Given the description of an element on the screen output the (x, y) to click on. 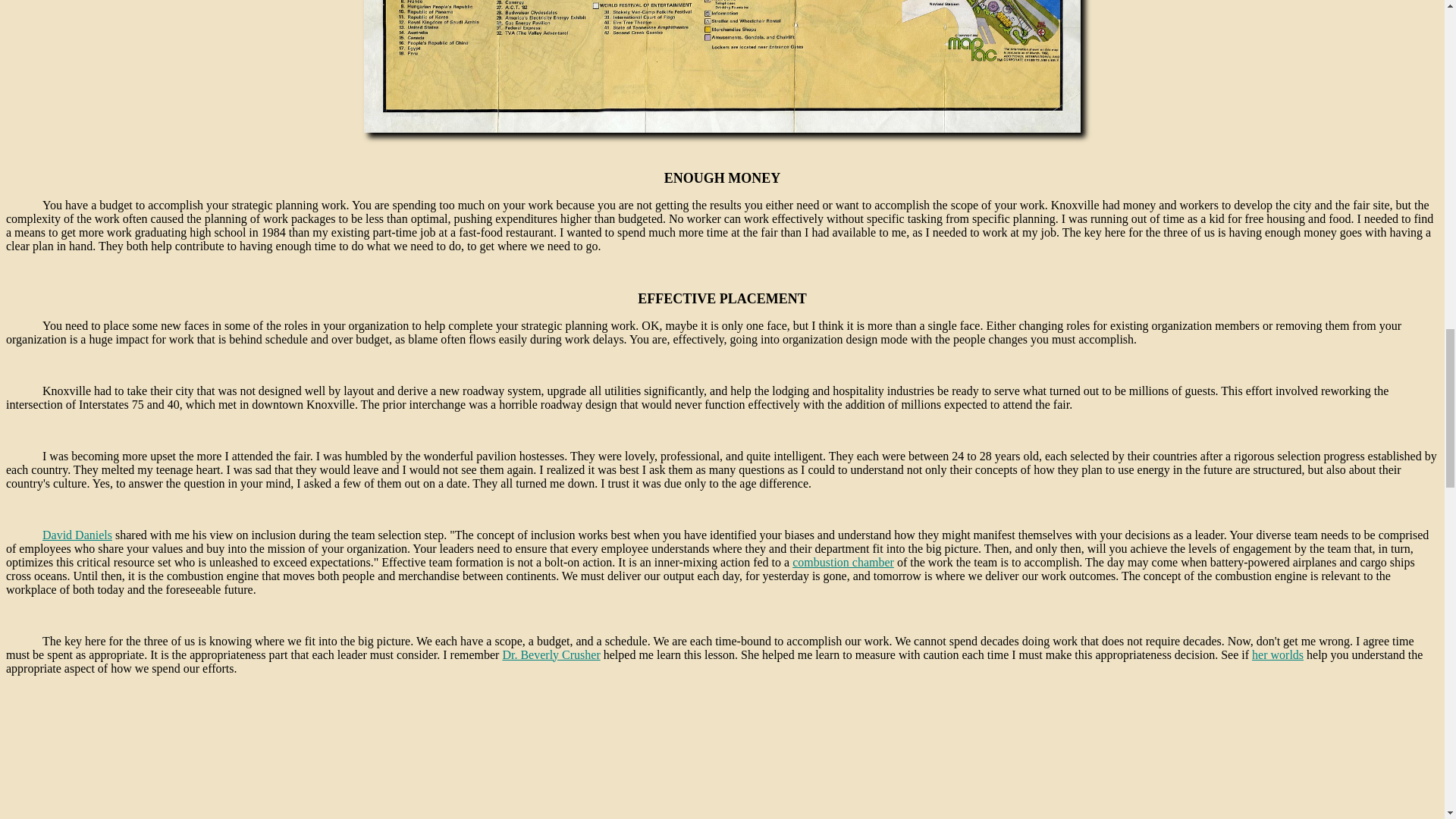
her worlds (1277, 654)
combustion chamber (842, 562)
Dr. Beverly Crusher (550, 654)
David Daniels (77, 534)
YouTube video player (721, 766)
